Given the description of an element on the screen output the (x, y) to click on. 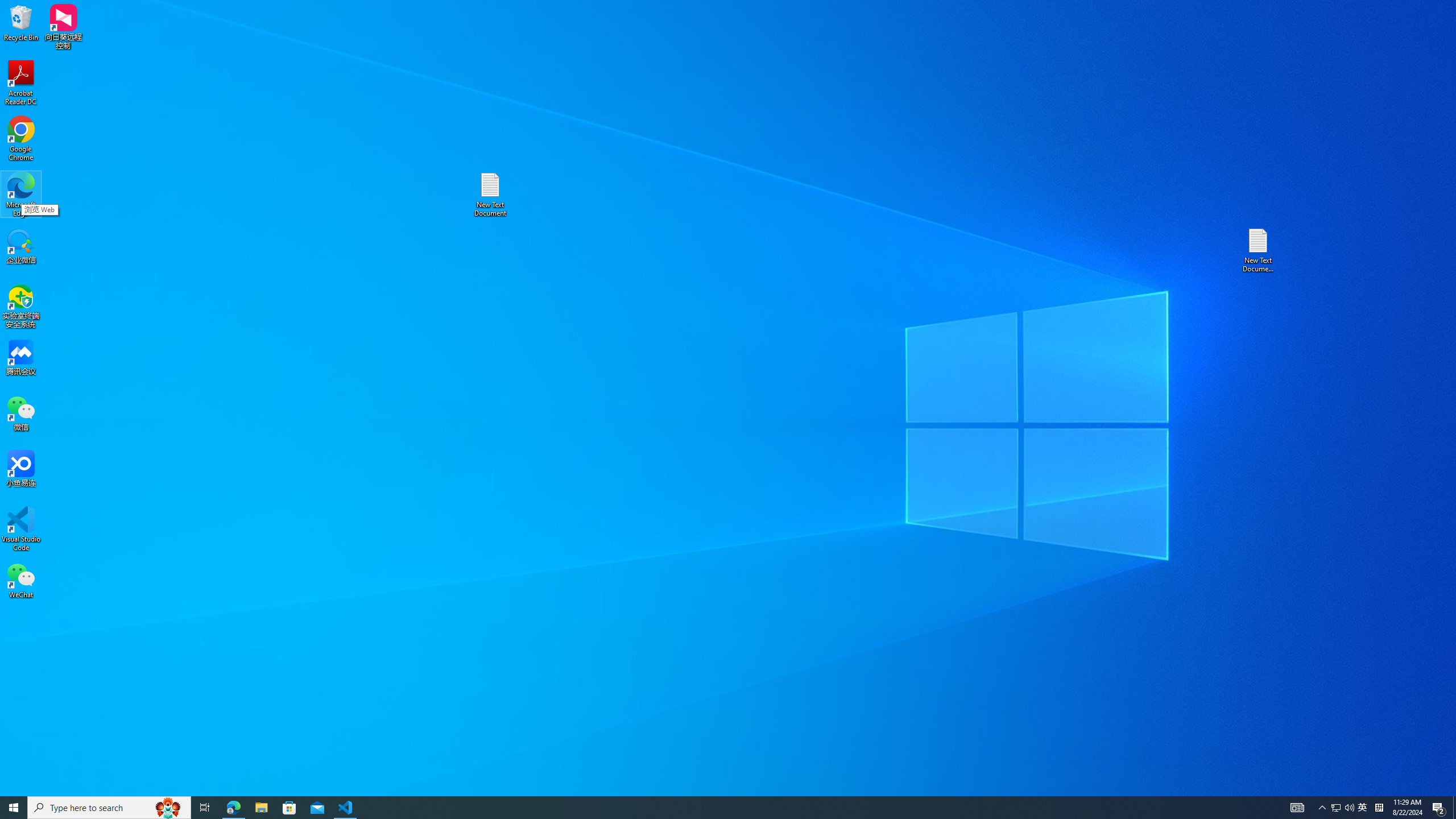
Recycle Bin (21, 22)
New Text Document (2) (1258, 250)
WeChat (21, 580)
Microsoft Edge (21, 194)
New Text Document (489, 194)
